Given the description of an element on the screen output the (x, y) to click on. 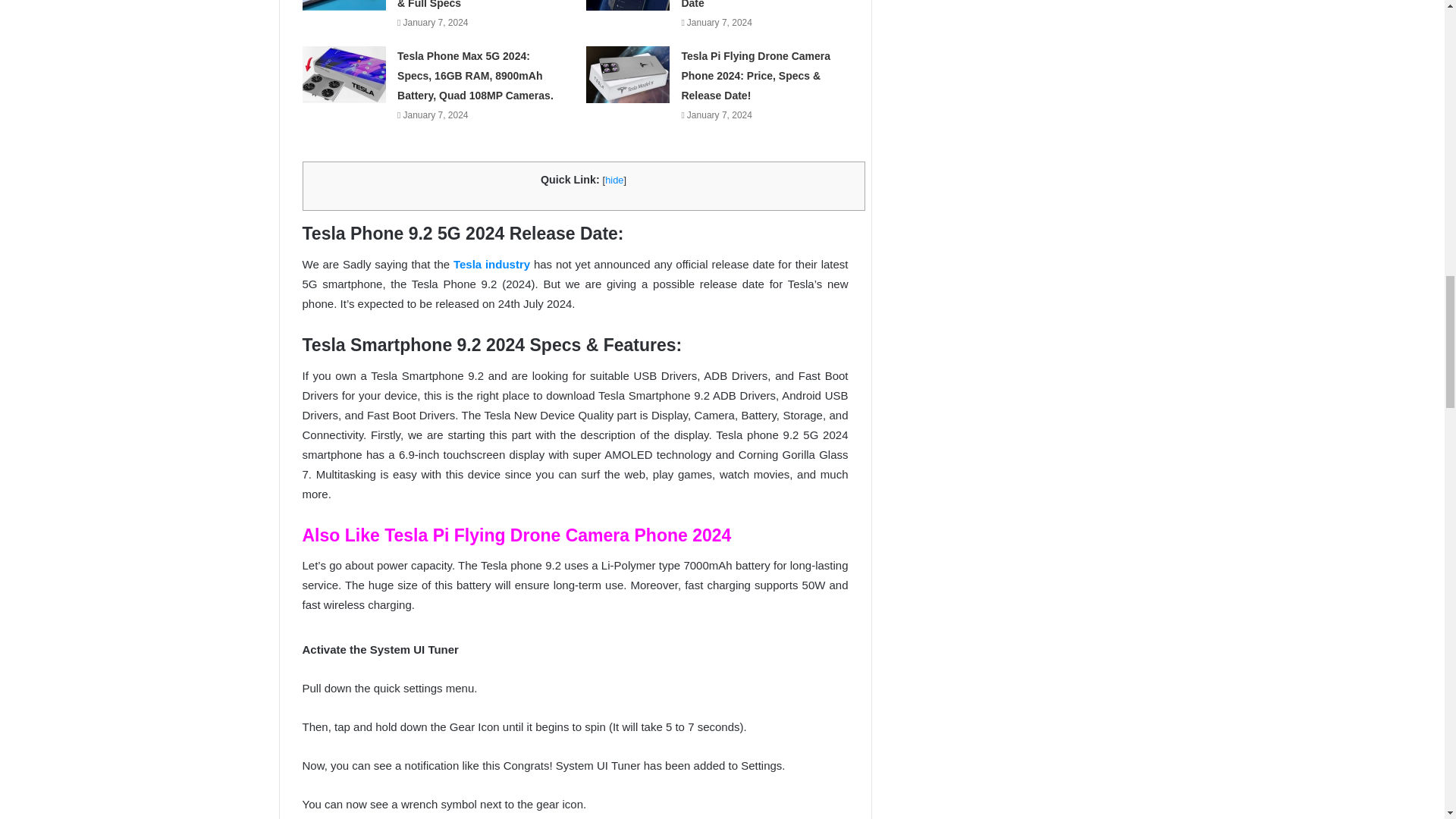
hide (614, 179)
Also Like Tesla Pi Flying Drone Camera Phone 2024 (515, 535)
Tesla industry (490, 264)
